Given the description of an element on the screen output the (x, y) to click on. 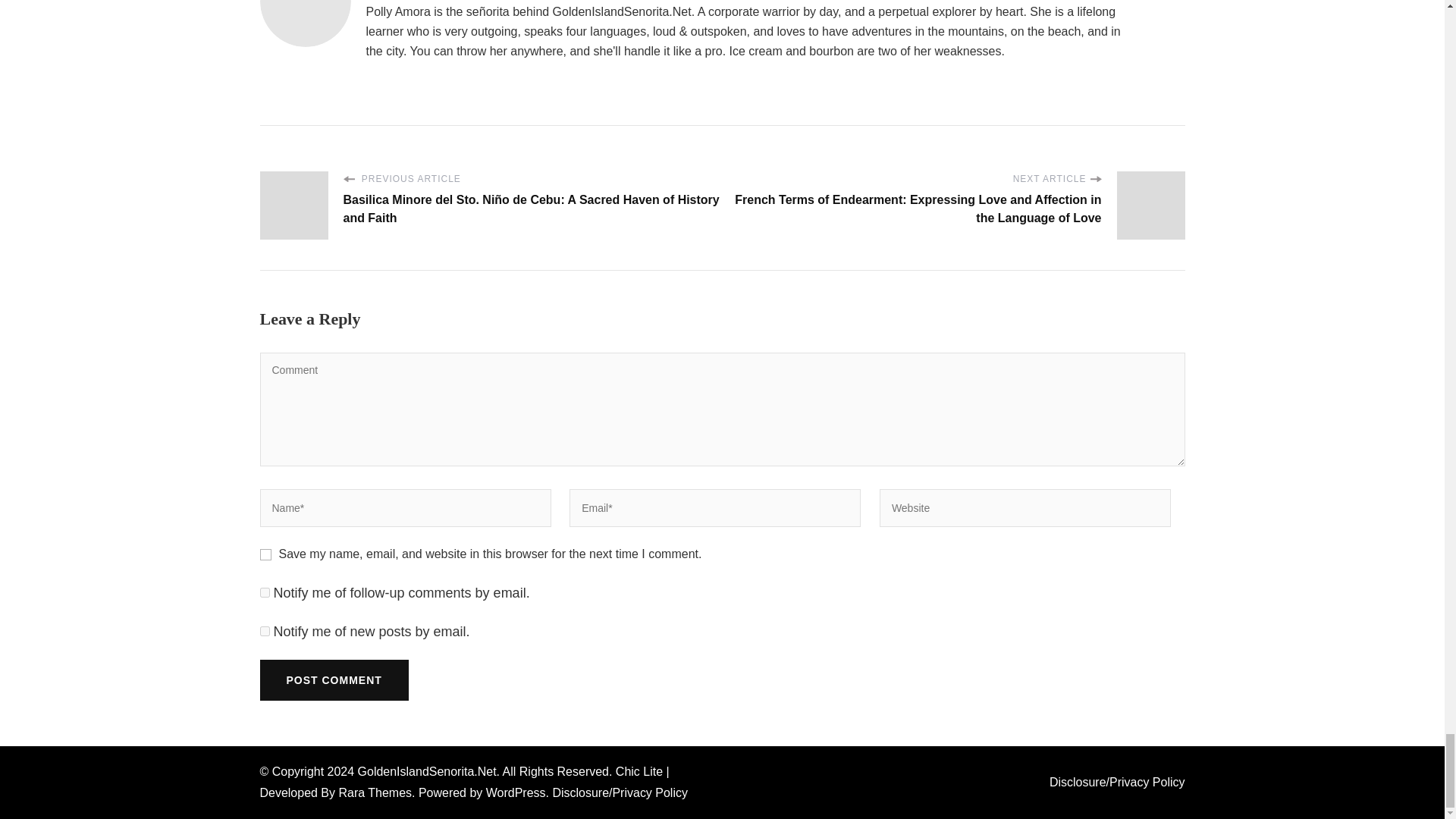
Post Comment (333, 680)
subscribe (264, 631)
subscribe (264, 592)
